Given the description of an element on the screen output the (x, y) to click on. 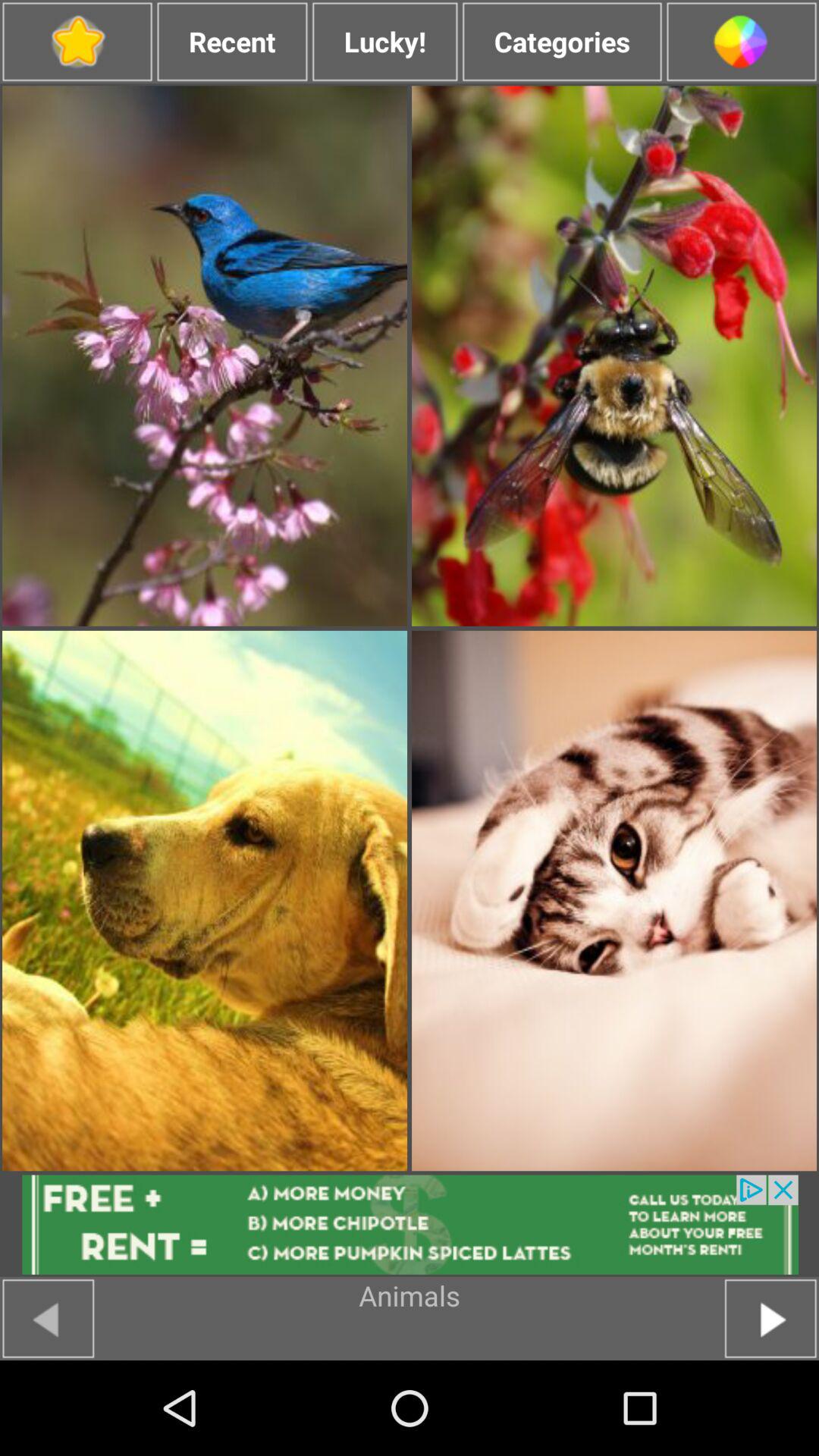
select the switch autoplay option (77, 41)
